Given the description of an element on the screen output the (x, y) to click on. 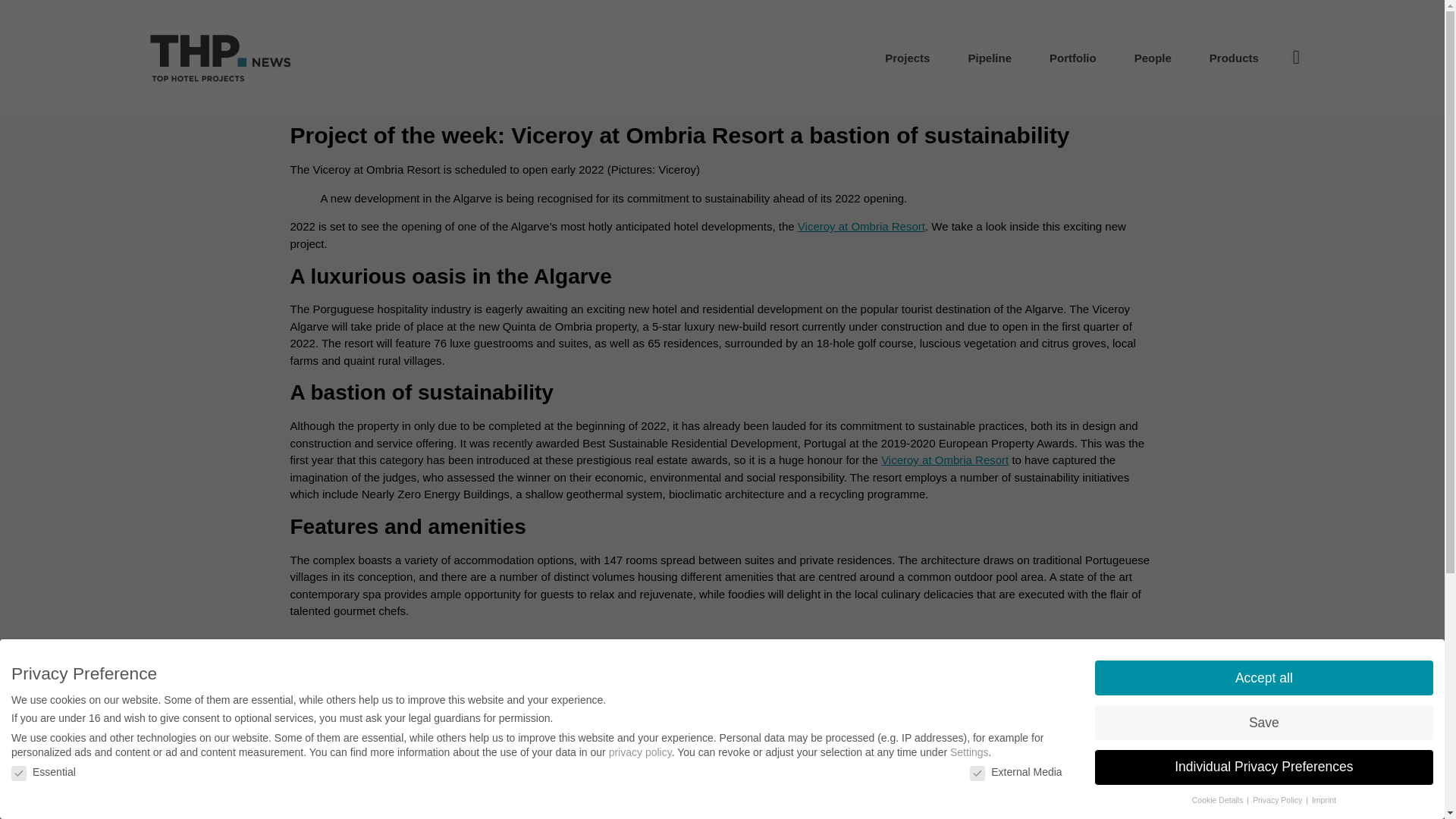
Pipeline (989, 58)
Save (1263, 722)
Settings (969, 752)
People (1153, 58)
privacy policy (639, 752)
Projects (907, 58)
Cookie Details (1219, 799)
Products (1234, 58)
Individual Privacy Preferences (1263, 767)
Accept all (1263, 677)
